Given the description of an element on the screen output the (x, y) to click on. 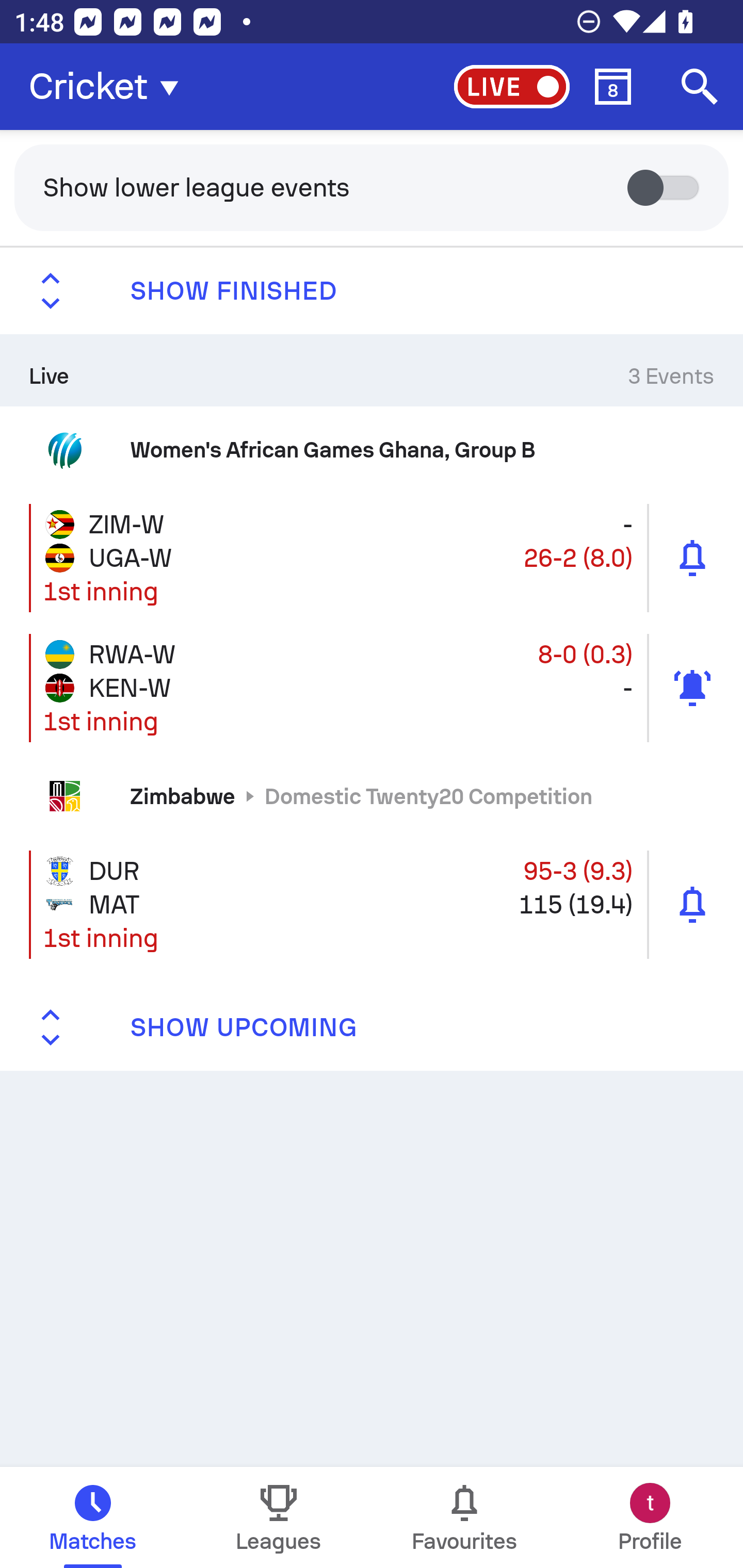
Cricket (109, 86)
Calendar (612, 86)
Search (699, 86)
Show lower league events (371, 187)
SHOW FINISHED (371, 290)
Live 3 Events (371, 369)
Women's African Games Ghana, Group B (371, 449)
ZIM-W - UGA-W 26-2 (8.0) 1st inning (371, 557)
RWA-W 8-0 (0.3) KEN-W - 1st inning (371, 687)
Zimbabwe Domestic Twenty20 Competition (371, 796)
DUR 95-3 (9.3) MAT 115 (19.4) 1st inning (371, 904)
SHOW UPCOMING (371, 1027)
Leagues (278, 1517)
Favourites (464, 1517)
Profile (650, 1517)
